Given the description of an element on the screen output the (x, y) to click on. 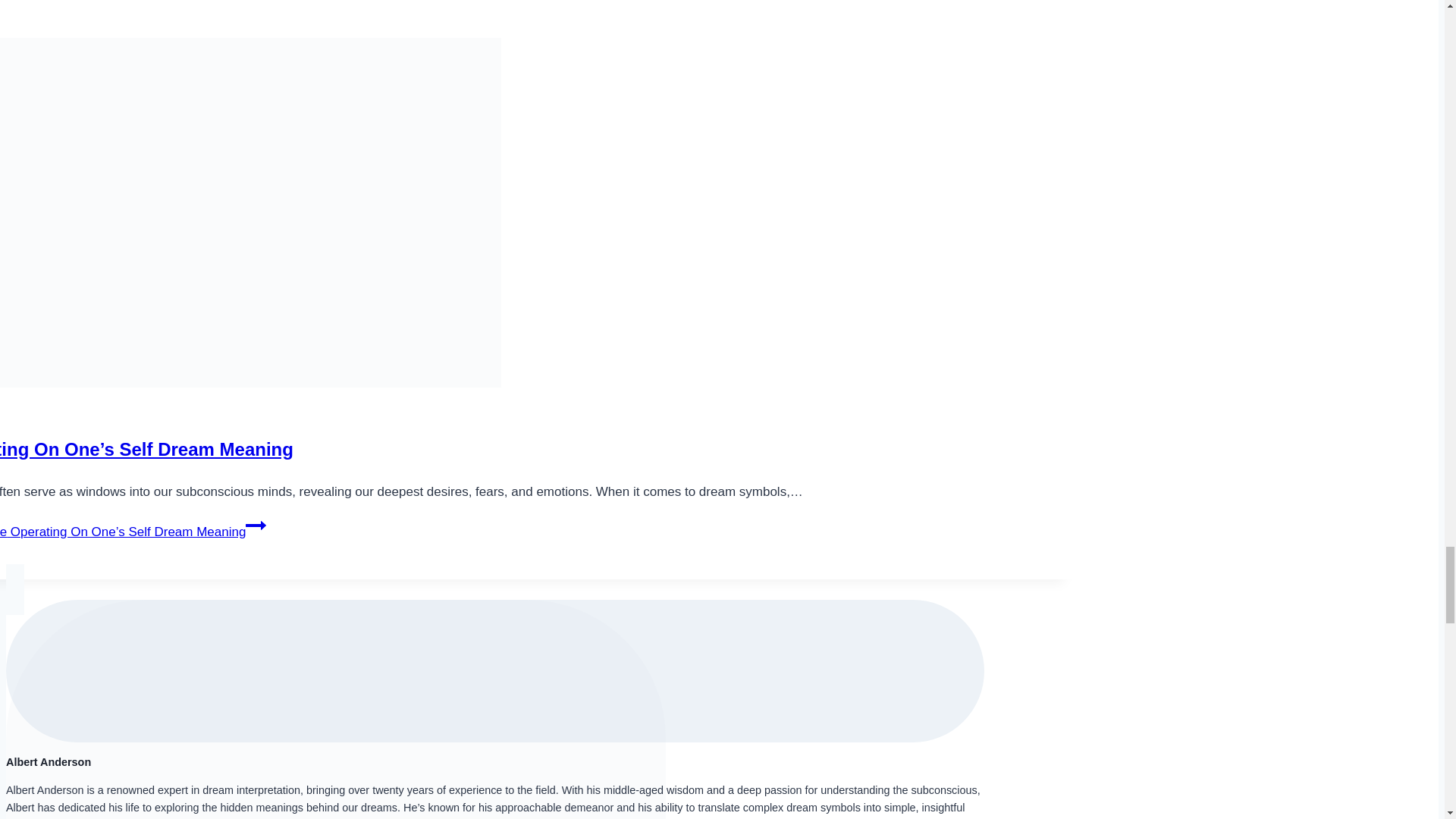
Continue (256, 525)
